Given the description of an element on the screen output the (x, y) to click on. 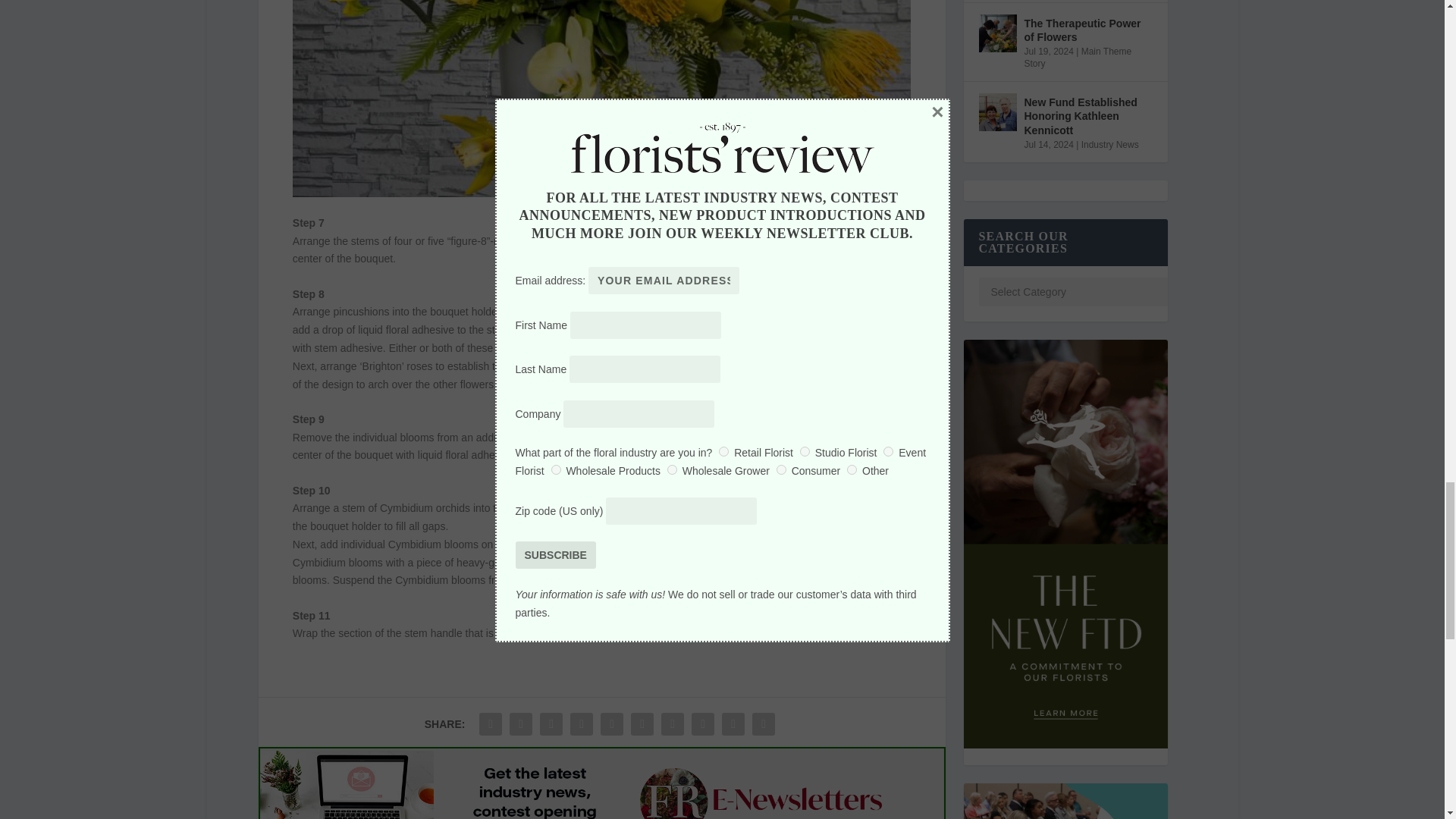
Share "Modern Monochromatic Bouquet" via Facebook (490, 723)
Share "Modern Monochromatic Bouquet" via Pinterest (611, 723)
Share "Modern Monochromatic Bouquet" via Tumblr (581, 723)
Share "Modern Monochromatic Bouquet" via Twitter (520, 723)
